Given the description of an element on the screen output the (x, y) to click on. 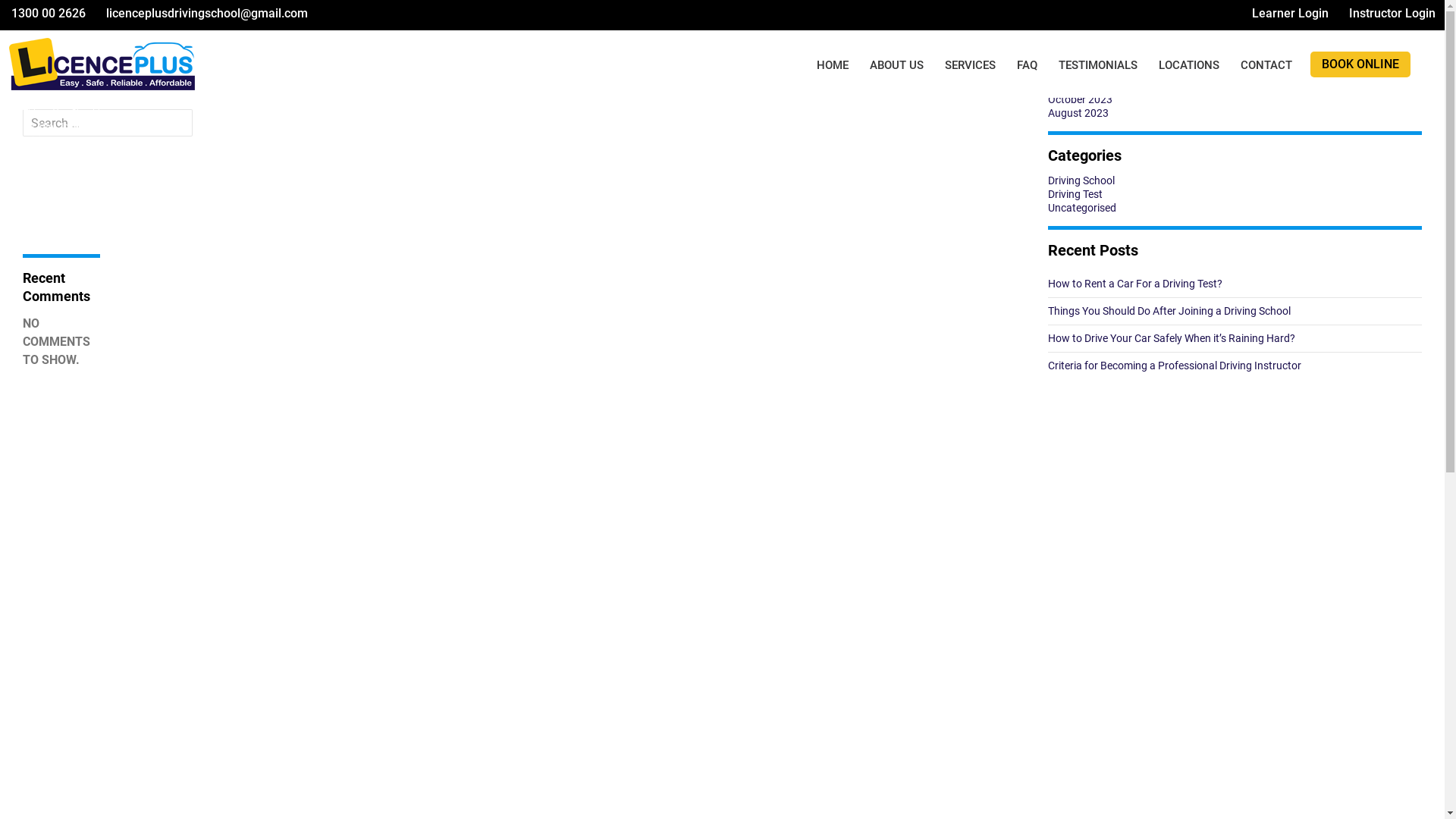
TESTIMONIALS Element type: text (1097, 65)
licenceplusdrivingschool@gmail.com Element type: text (205, 13)
LOCATIONS Element type: text (1188, 65)
November 2023 Element type: text (1085, 85)
Driving School Element type: text (1081, 180)
Search Element type: text (40, 13)
How to Rent a Car For a Driving Test? Element type: text (60, 92)
Things You Should Do After Joining a Driving School Element type: text (61, 126)
Driving Test Element type: text (1075, 194)
SERVICES Element type: text (969, 65)
Uncategorised Element type: text (1082, 207)
Learner Login Element type: text (1288, 13)
How to Rent a Car For a Driving Test? Element type: text (1135, 283)
CONTACT Element type: text (1266, 65)
Criteria for Becoming a Professional Driving Instructor Element type: text (57, 215)
Criteria for Becoming a Professional Driving Instructor Element type: text (1174, 365)
Instructor Login Element type: text (1390, 13)
FAQ Element type: text (1026, 65)
1300 00 2626 Element type: text (47, 13)
HOME Element type: text (832, 65)
October 2023 Element type: text (1080, 99)
Things You Should Do After Joining a Driving School Element type: text (1169, 310)
ABOUT US Element type: text (896, 65)
SEARCH Element type: text (95, 58)
August 2023 Element type: text (1078, 112)
BOOK ONLINE Element type: text (1360, 64)
